Given the description of an element on the screen output the (x, y) to click on. 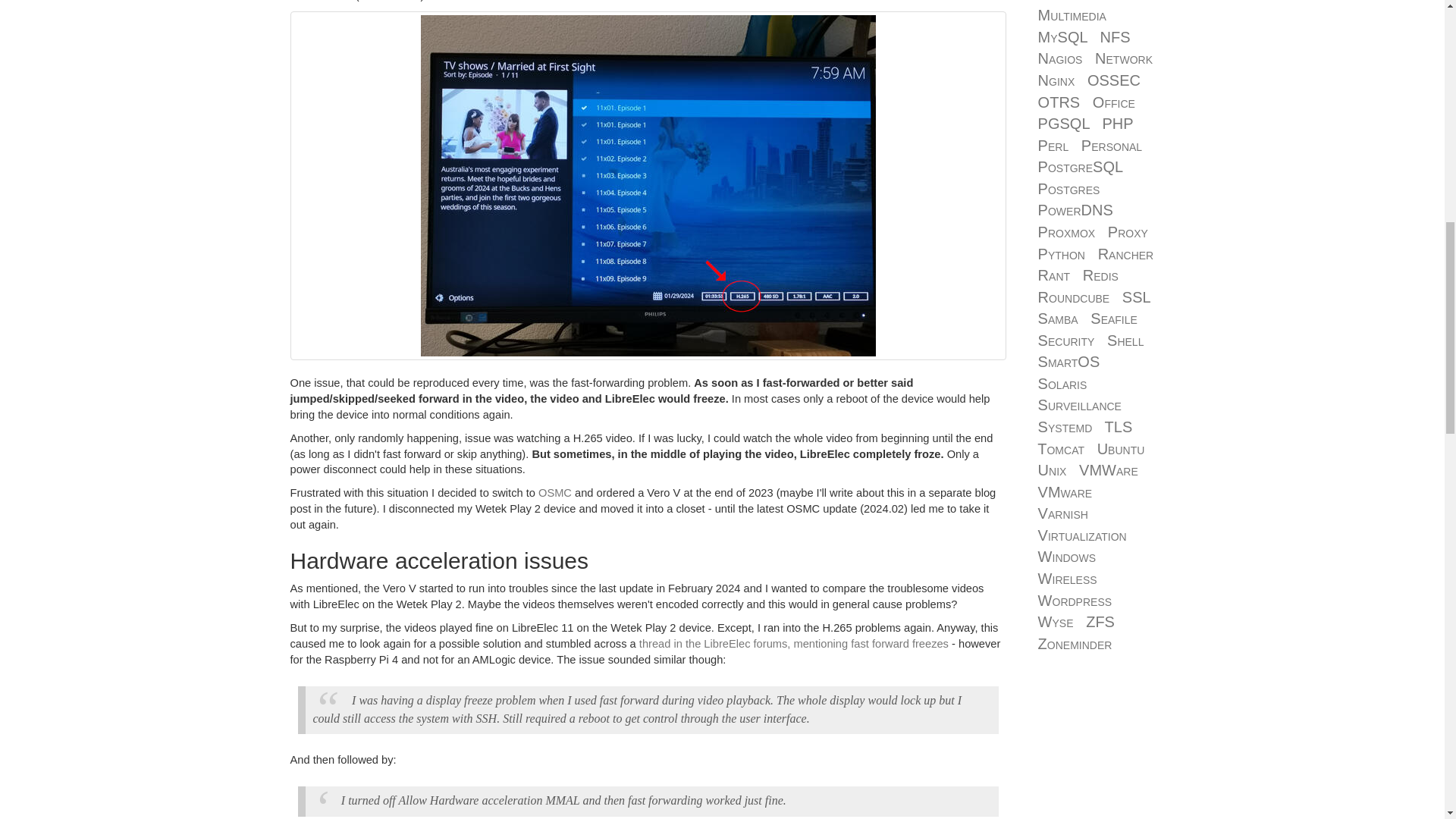
H.265 codec (320, 0)
OSMC (555, 492)
